Given the description of an element on the screen output the (x, y) to click on. 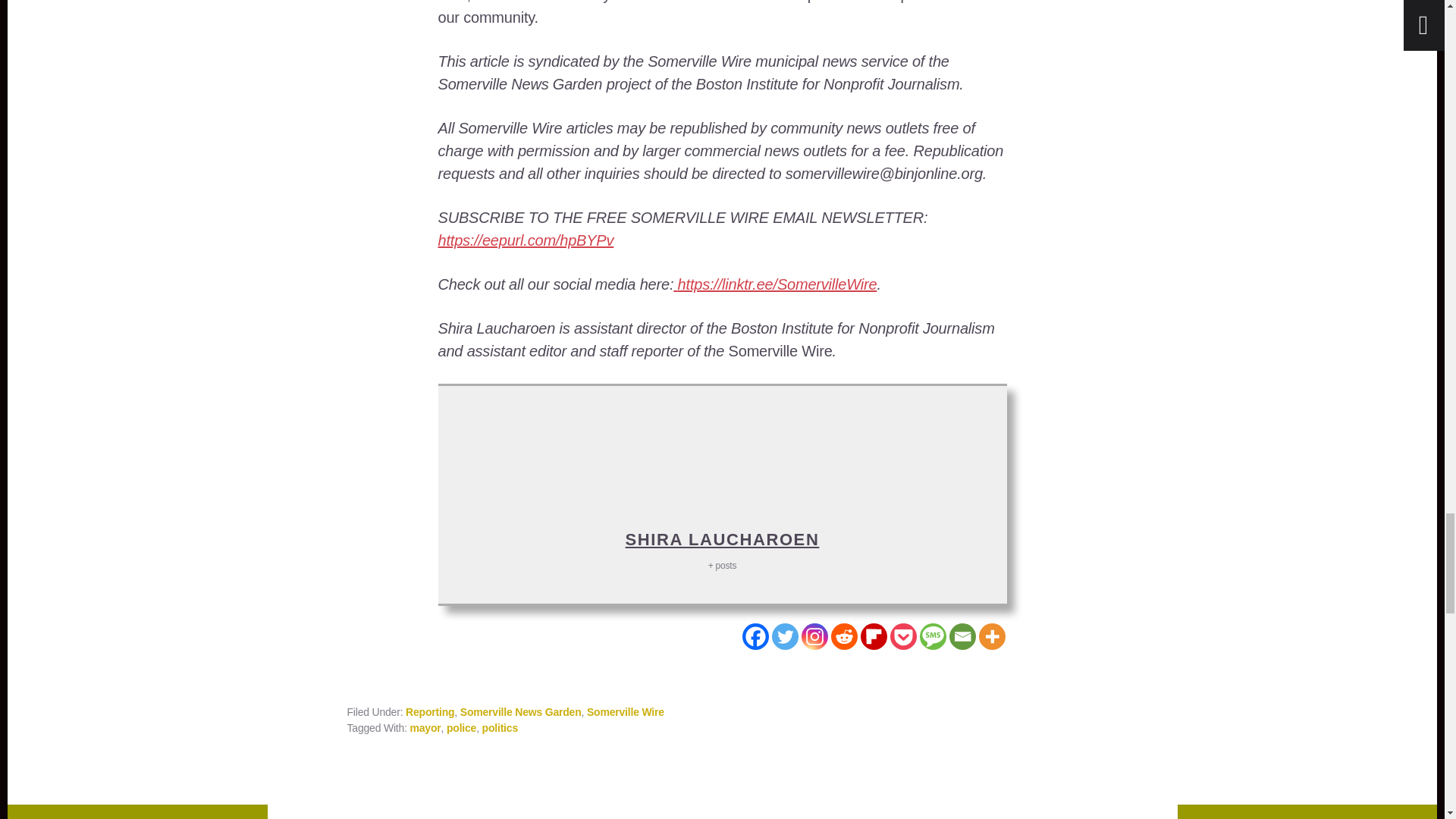
Instagram (813, 636)
Email (962, 636)
Reporting (430, 711)
mayor (425, 727)
SHIRA LAUCHAROEN (722, 538)
police (461, 727)
Pocket (903, 636)
Reddit (844, 636)
politics (499, 727)
Facebook (754, 636)
